Given the description of an element on the screen output the (x, y) to click on. 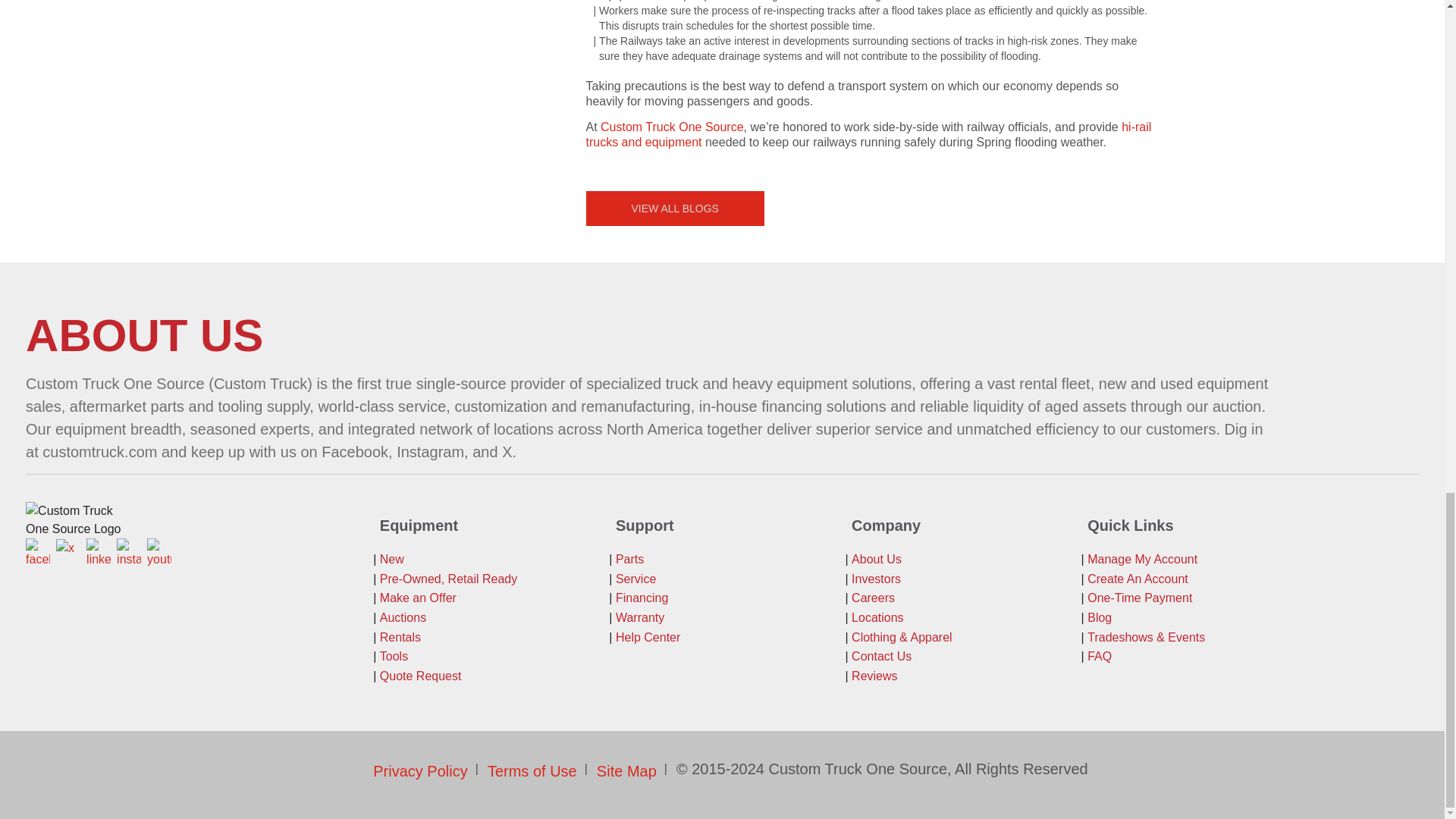
View All News (673, 207)
